Given the description of an element on the screen output the (x, y) to click on. 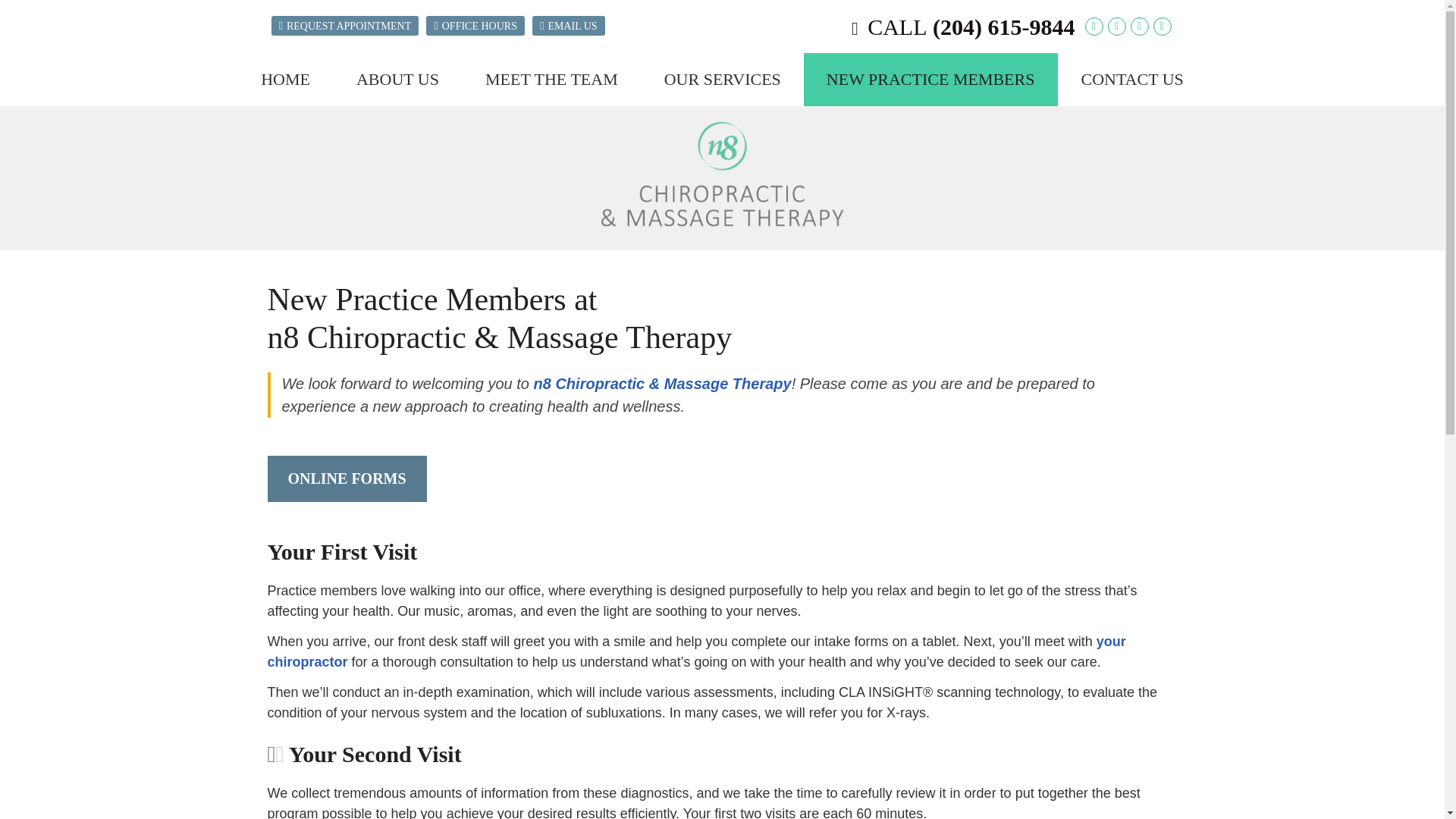
Yelp Social Button (1161, 26)
ABOUT US (398, 79)
Facebook Social Button (1115, 26)
HOME (285, 79)
REQUEST APPOINTMENT (344, 25)
MEET THE TEAM (552, 79)
OFFICE HOURS (475, 25)
ONLINE FORMS (346, 478)
Contact (568, 25)
Instagram Social Button (1138, 26)
